Given the description of an element on the screen output the (x, y) to click on. 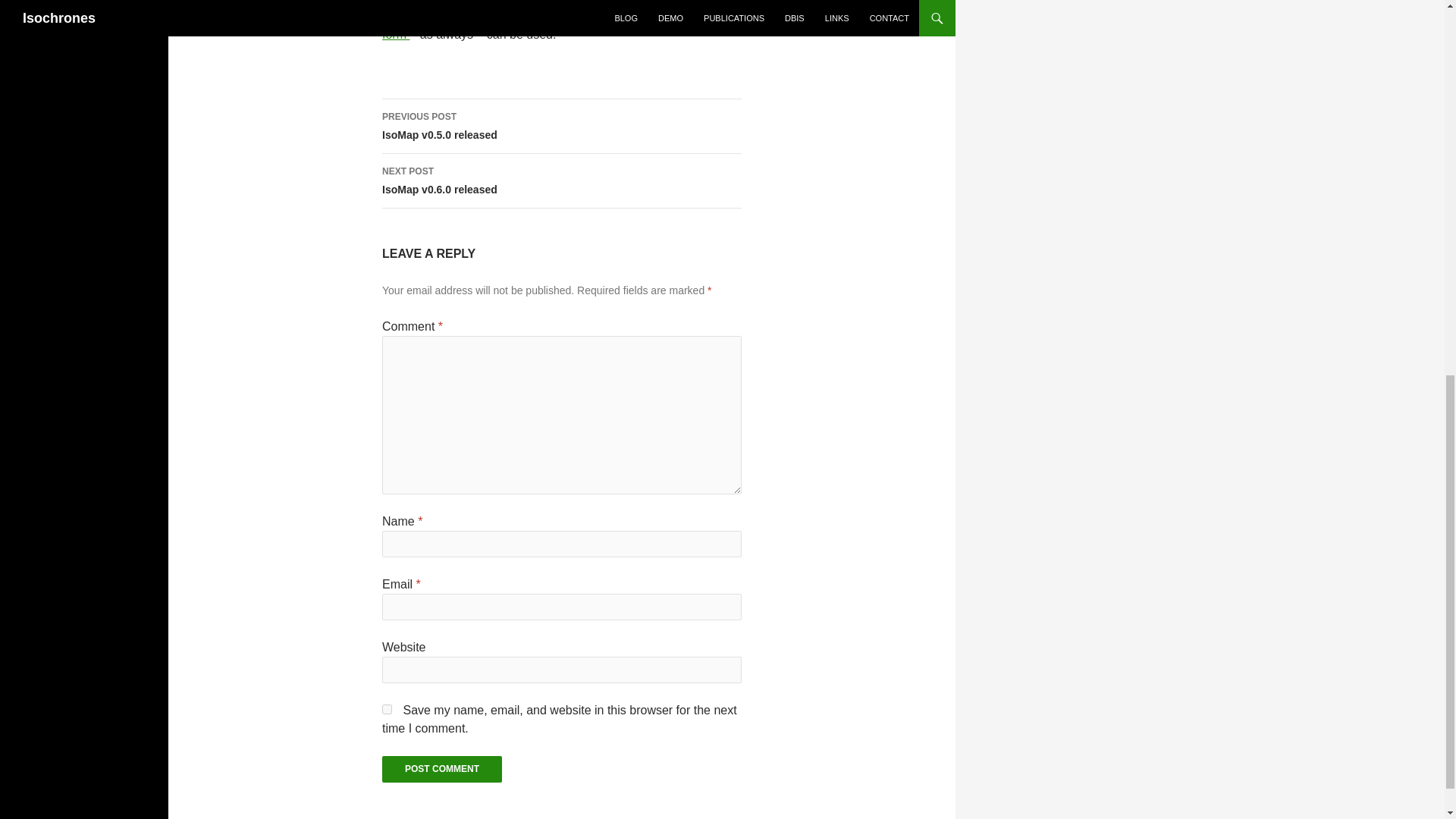
Post Comment (441, 768)
Contact (558, 24)
Post Comment (441, 768)
the contact form (561, 126)
yes (558, 24)
